Given the description of an element on the screen output the (x, y) to click on. 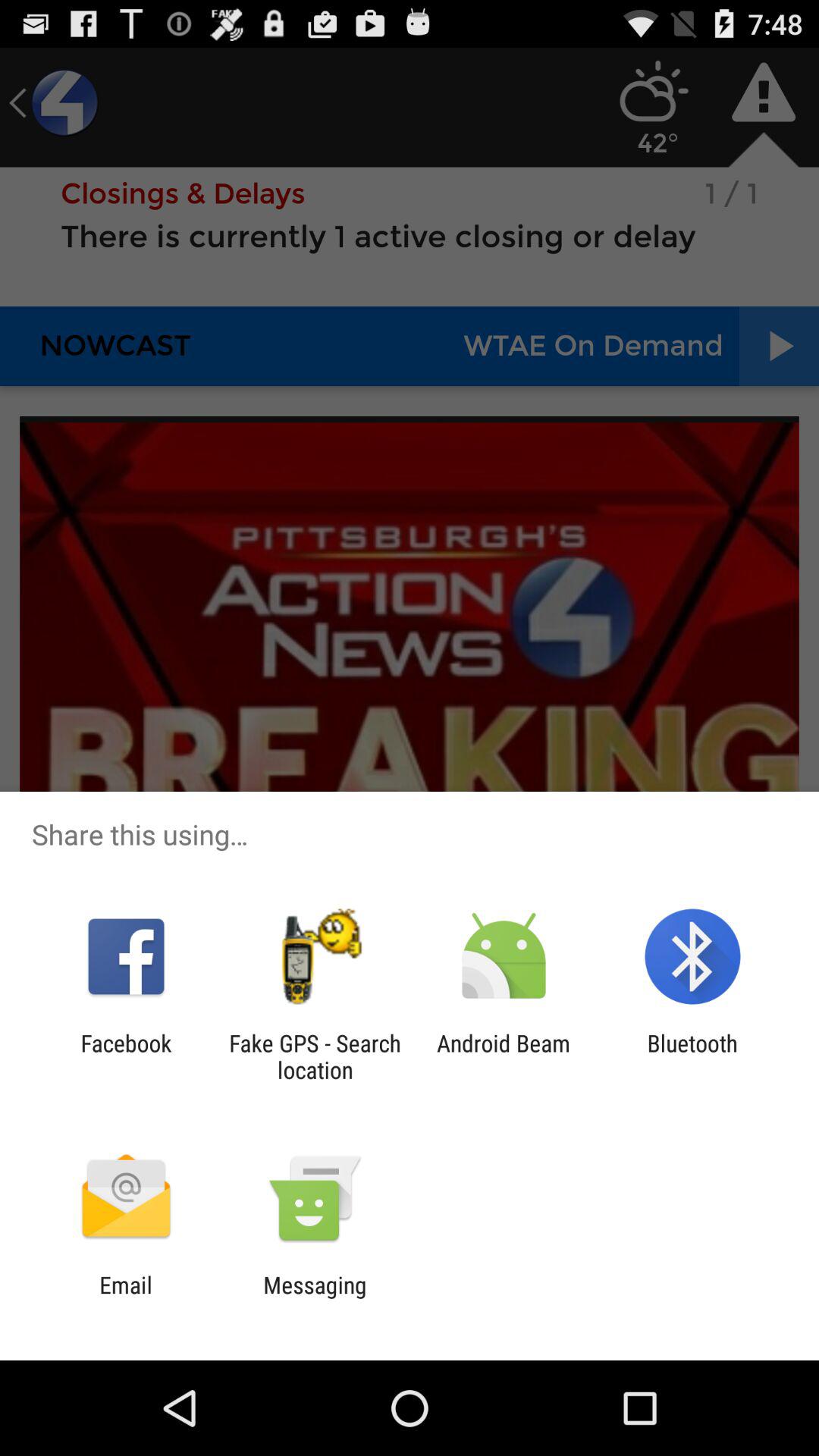
choose bluetooth app (692, 1056)
